Given the description of an element on the screen output the (x, y) to click on. 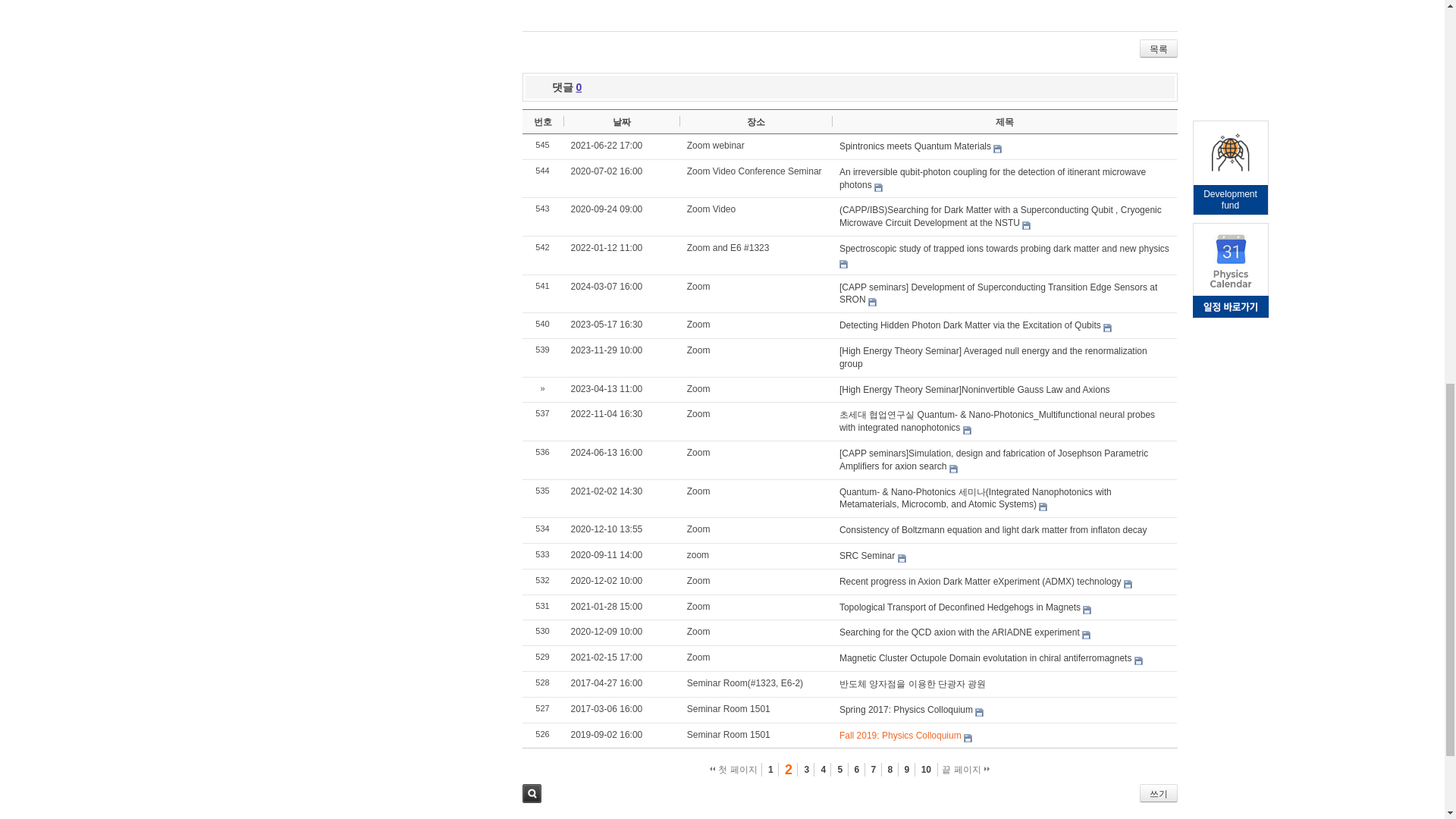
file (1086, 610)
file (1128, 583)
file (966, 429)
file (871, 302)
file (979, 712)
file (1107, 327)
file (1085, 634)
file (878, 187)
file (996, 148)
file (901, 558)
file (843, 264)
file (1026, 225)
file (953, 469)
file (1138, 660)
file (967, 737)
